Given the description of an element on the screen output the (x, y) to click on. 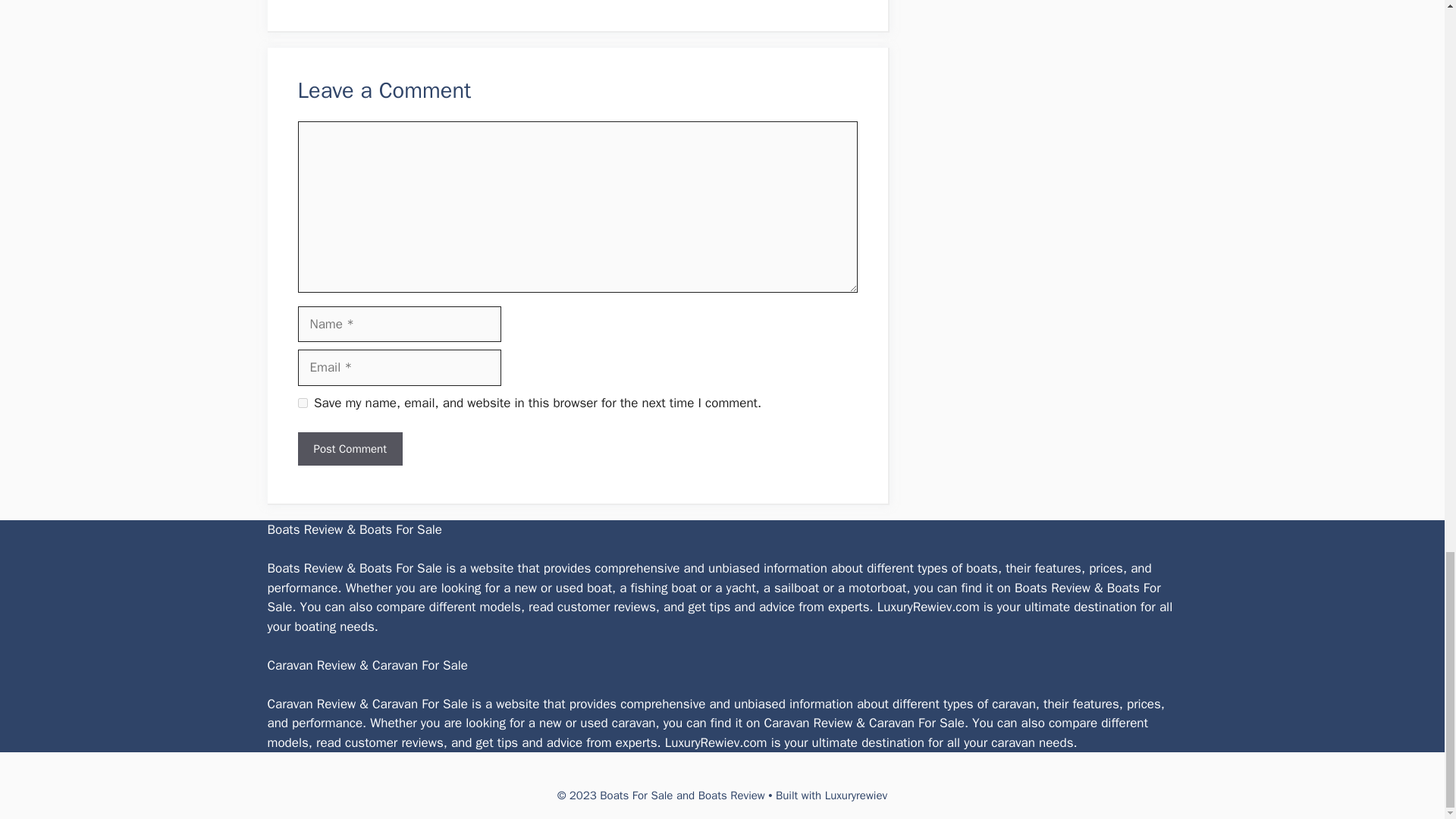
LuxuryRewiev.com (928, 606)
Post Comment (349, 449)
Post Comment (349, 449)
Luxuryrewiev (855, 795)
LuxuryRewiev.com (716, 742)
yes (302, 402)
